Given the description of an element on the screen output the (x, y) to click on. 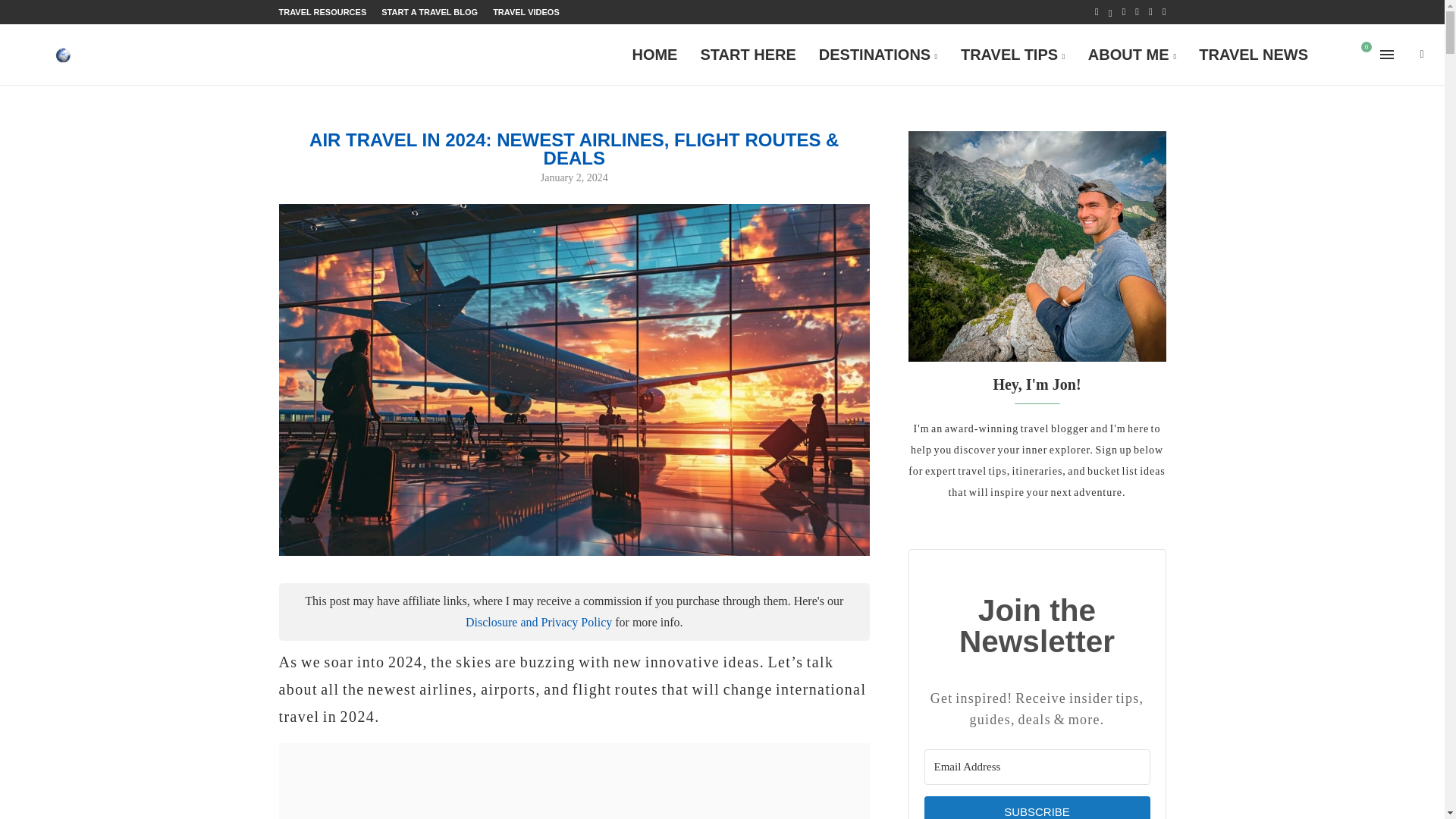
START HERE (747, 54)
TRAVEL TIPS (1013, 54)
TRAVEL RESOURCES (322, 12)
Disclosure and Privacy Policy (538, 621)
START A TRAVEL BLOG (429, 12)
TRAVEL NEWS (1253, 54)
DESTINATIONS (878, 54)
TRAVEL VIDEOS (526, 12)
HOME (654, 54)
ABOUT ME (1132, 54)
